Given the description of an element on the screen output the (x, y) to click on. 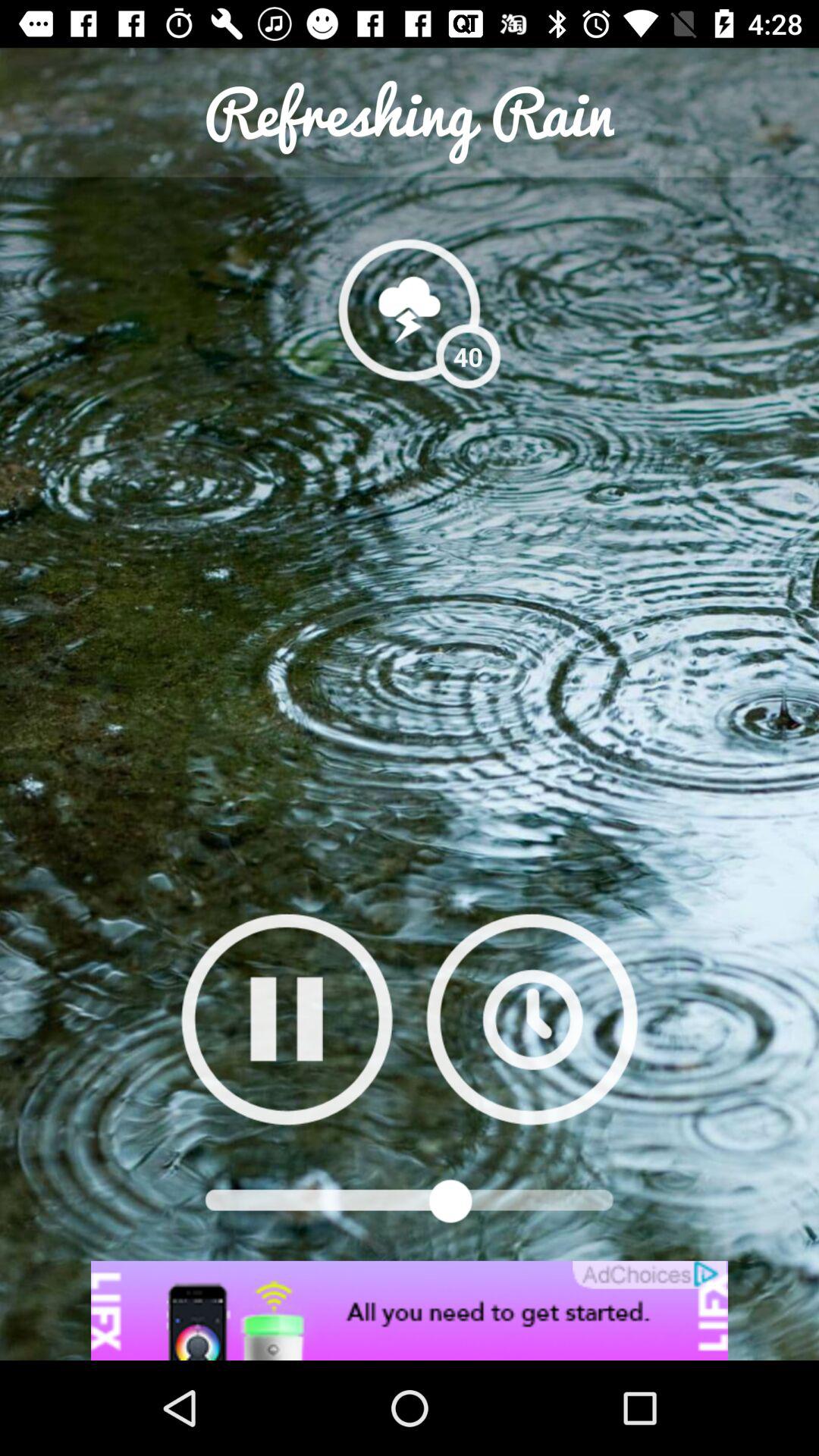
it specifies the advertisement (409, 1310)
